Given the description of an element on the screen output the (x, y) to click on. 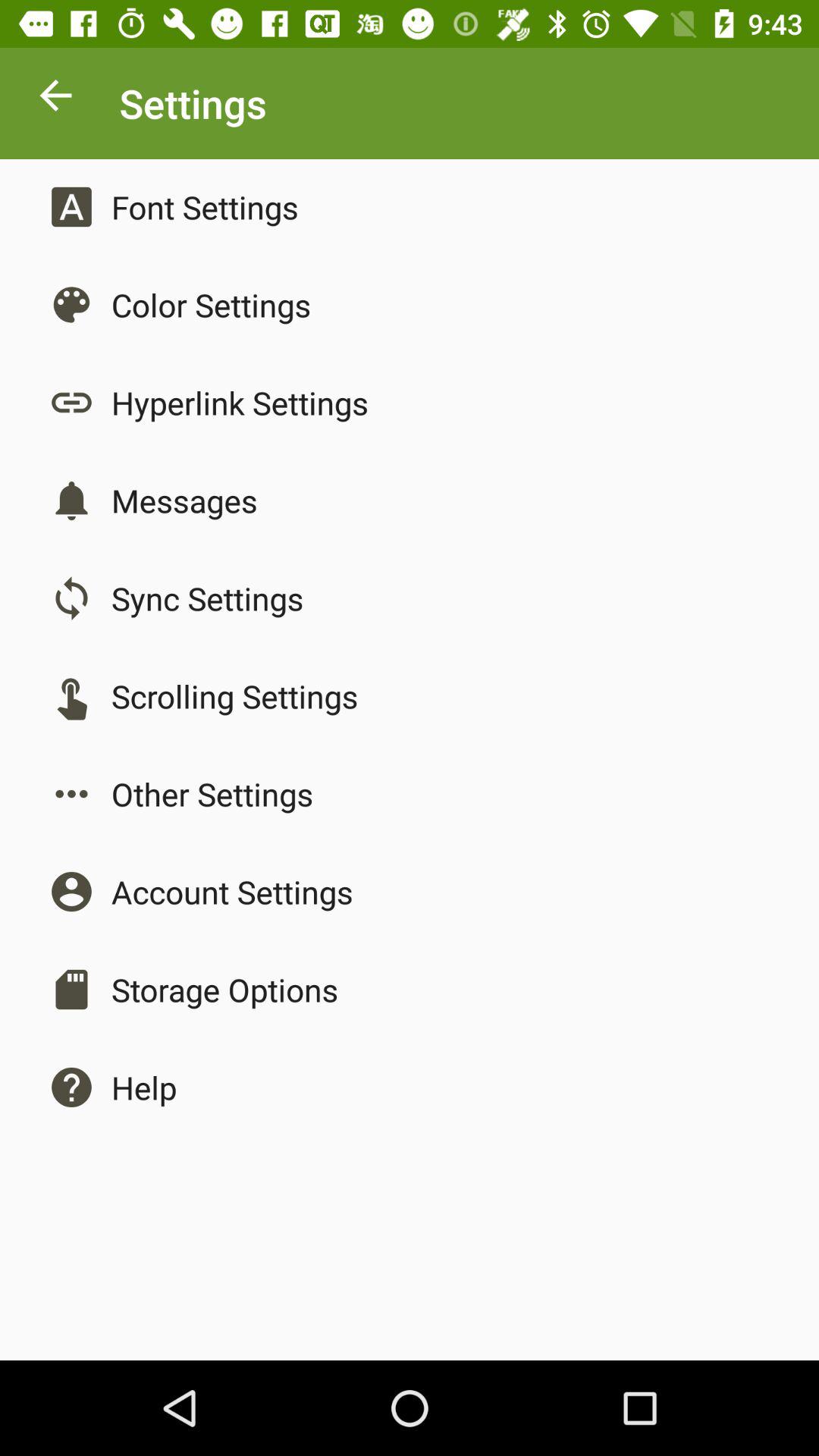
scroll until messages item (184, 500)
